Given the description of an element on the screen output the (x, y) to click on. 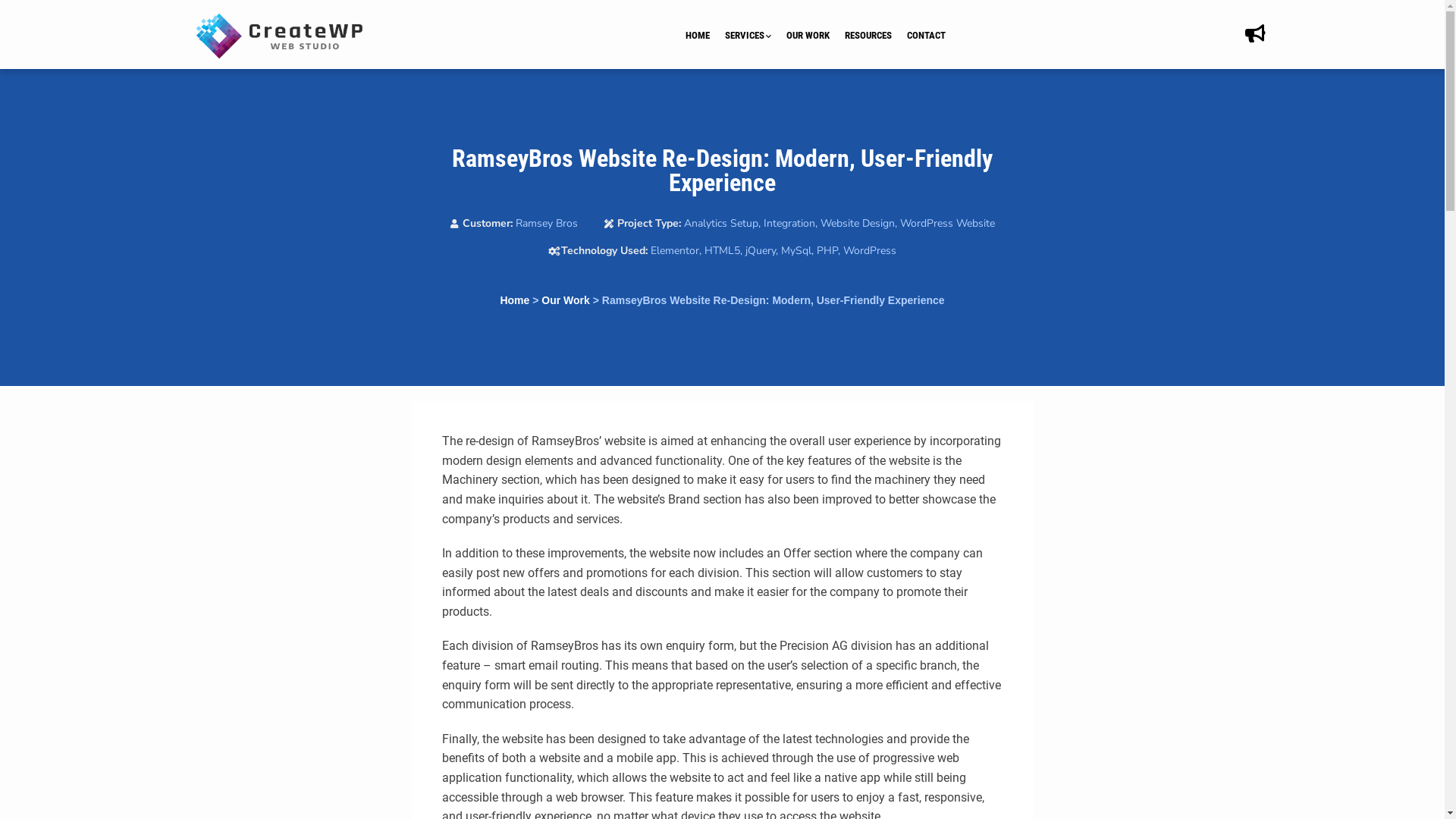
Home Element type: text (514, 300)
HOME Element type: text (704, 35)
CONTACT Element type: text (933, 35)
OUR WORK Element type: text (815, 35)
Our Work Element type: text (565, 300)
SERVICES Element type: text (755, 35)
RESOURCES Element type: text (875, 35)
